Given the description of an element on the screen output the (x, y) to click on. 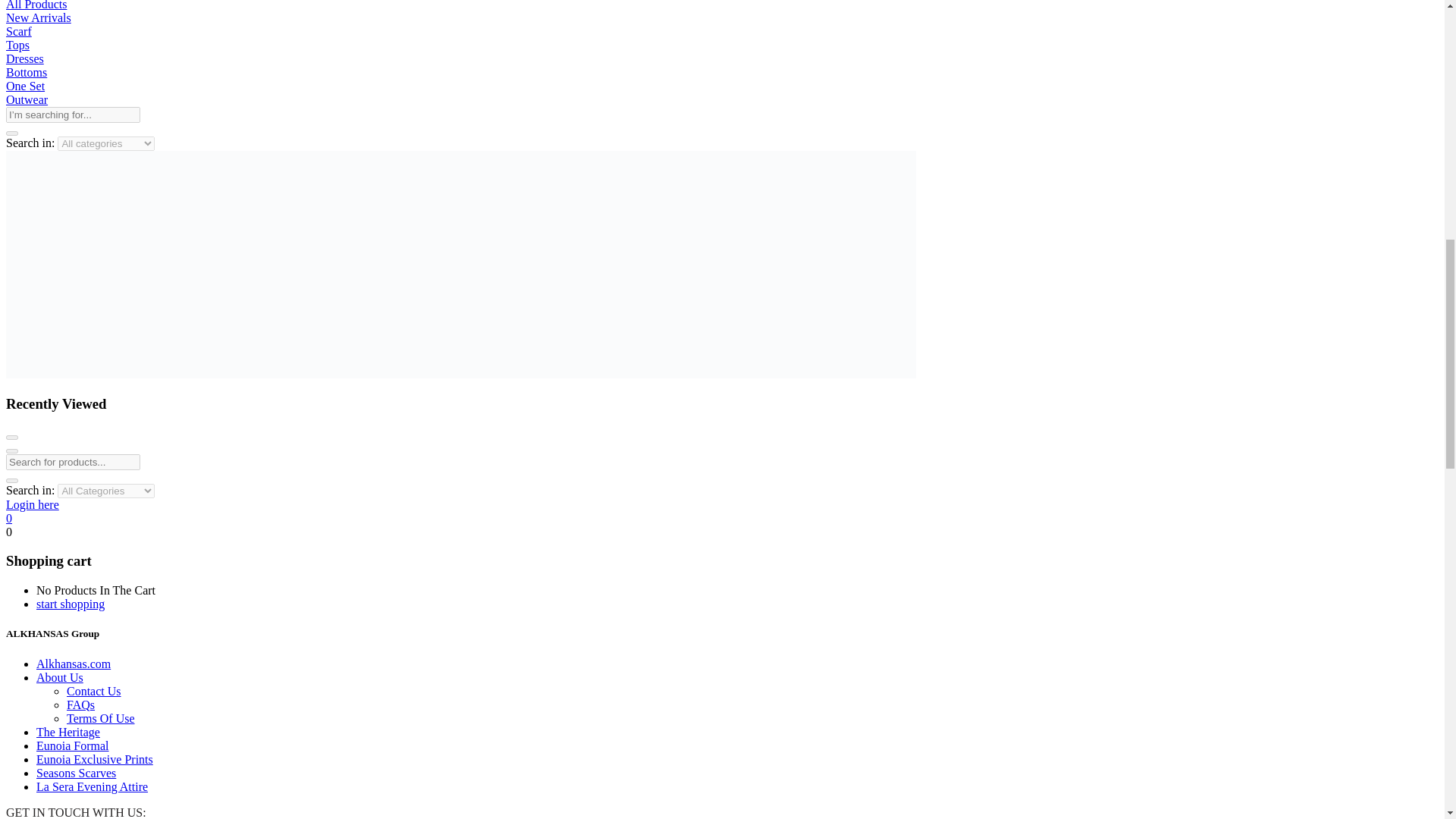
Tops (17, 44)
Scarf (18, 31)
All Products (35, 5)
New Arrivals (38, 17)
